Given the description of an element on the screen output the (x, y) to click on. 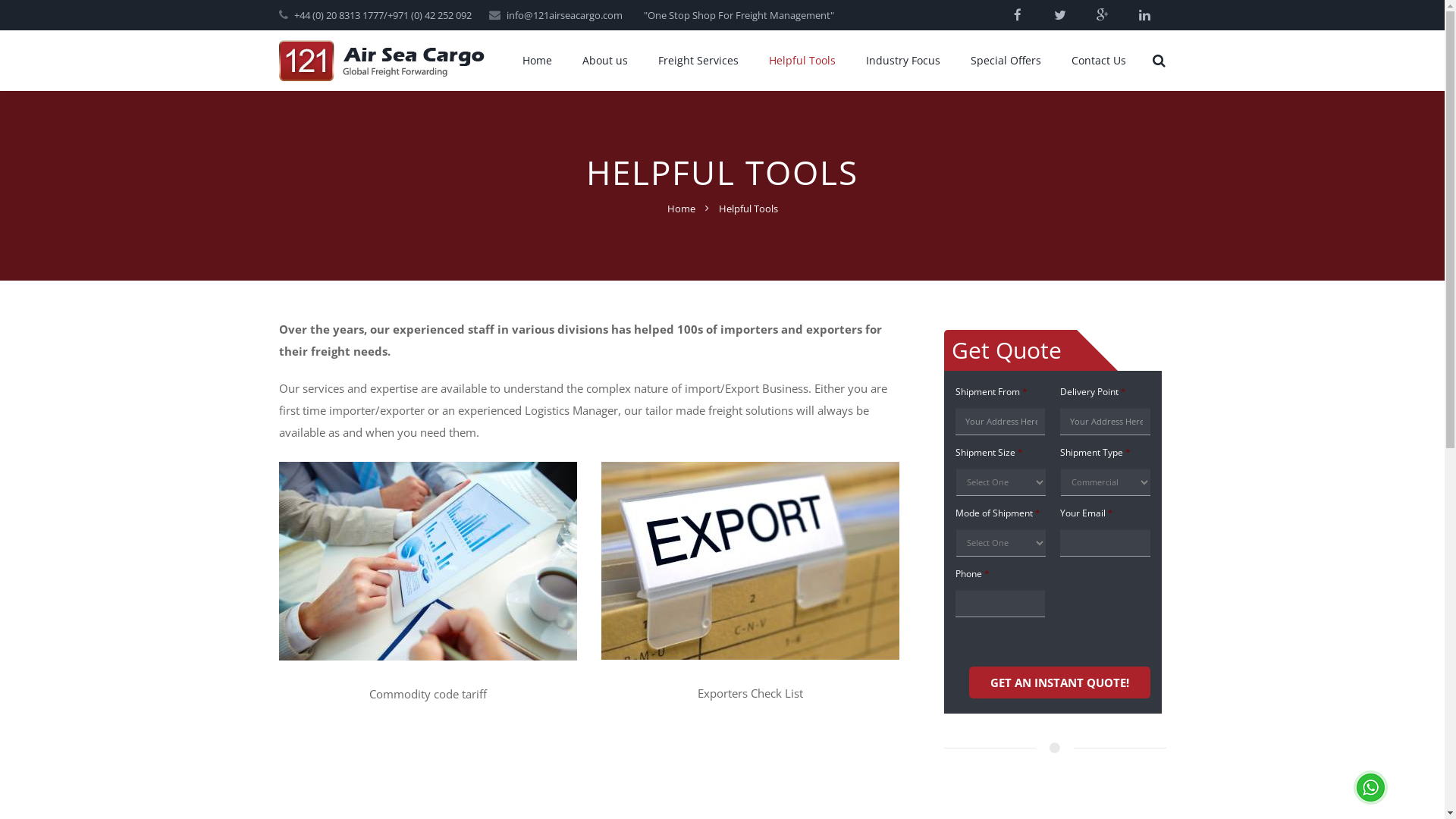
Exporters Check List Element type: hover (750, 654)
Contact Us Element type: text (1097, 60)
+44 (0) 20 8313 1777 Element type: text (338, 14)
Get An Instant Quote! Element type: text (1059, 682)
About us Element type: text (605, 60)
+971 (0) 42 252 092 Element type: text (428, 14)
Special Offers Element type: text (1005, 60)
info@121airseacargo.com Element type: text (564, 14)
Helpful Tools Element type: text (801, 60)
Home Element type: text (681, 208)
Freight Services Element type: text (698, 60)
Home Element type: text (536, 60)
Industry Focus Element type: text (902, 60)
Commodity code tariff Element type: hover (428, 655)
